Given the description of an element on the screen output the (x, y) to click on. 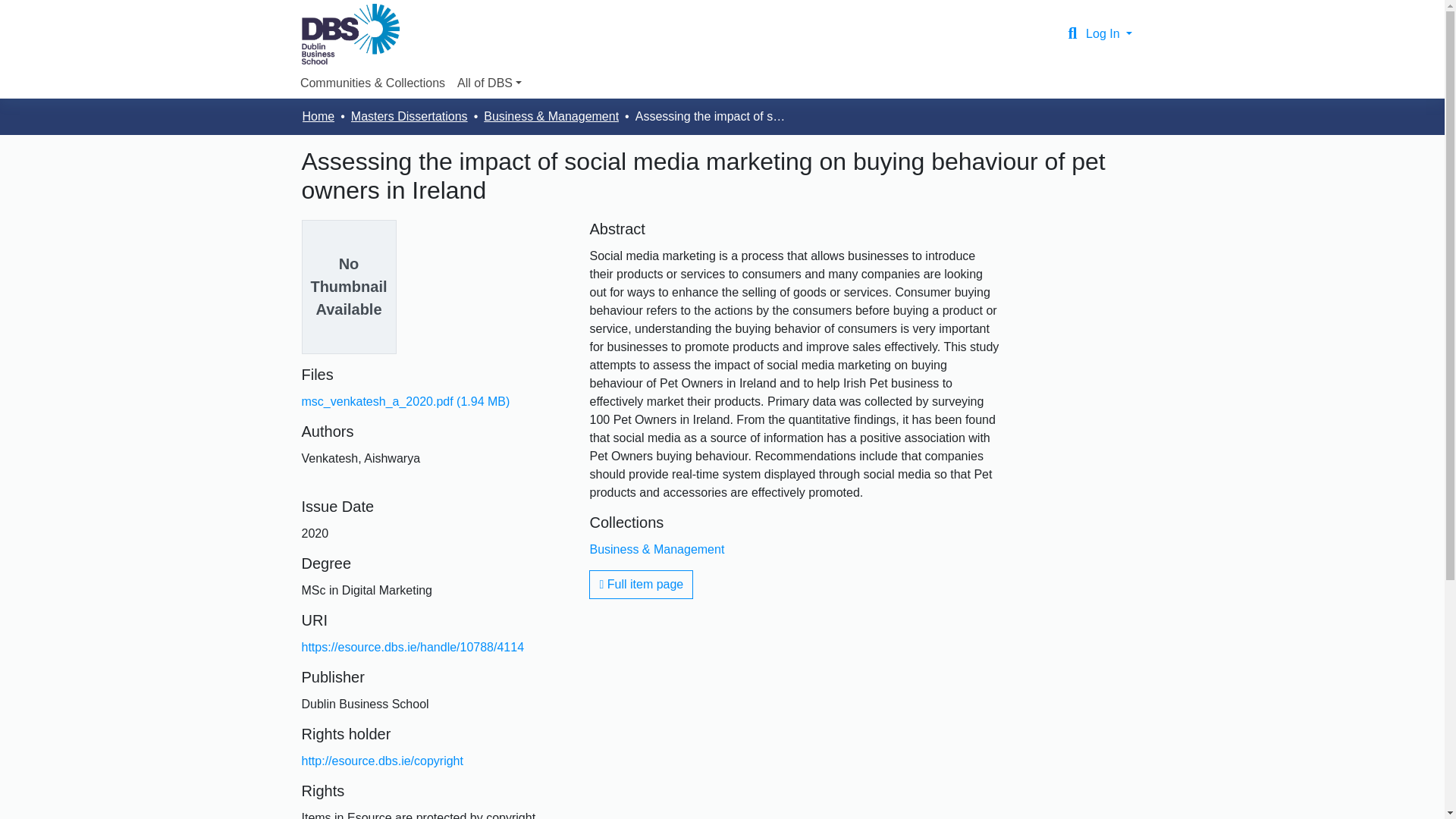
Masters Dissertations (408, 116)
Home (317, 116)
Full item page (641, 584)
All of DBS (489, 82)
Search (1072, 34)
Log In (1108, 33)
